Given the description of an element on the screen output the (x, y) to click on. 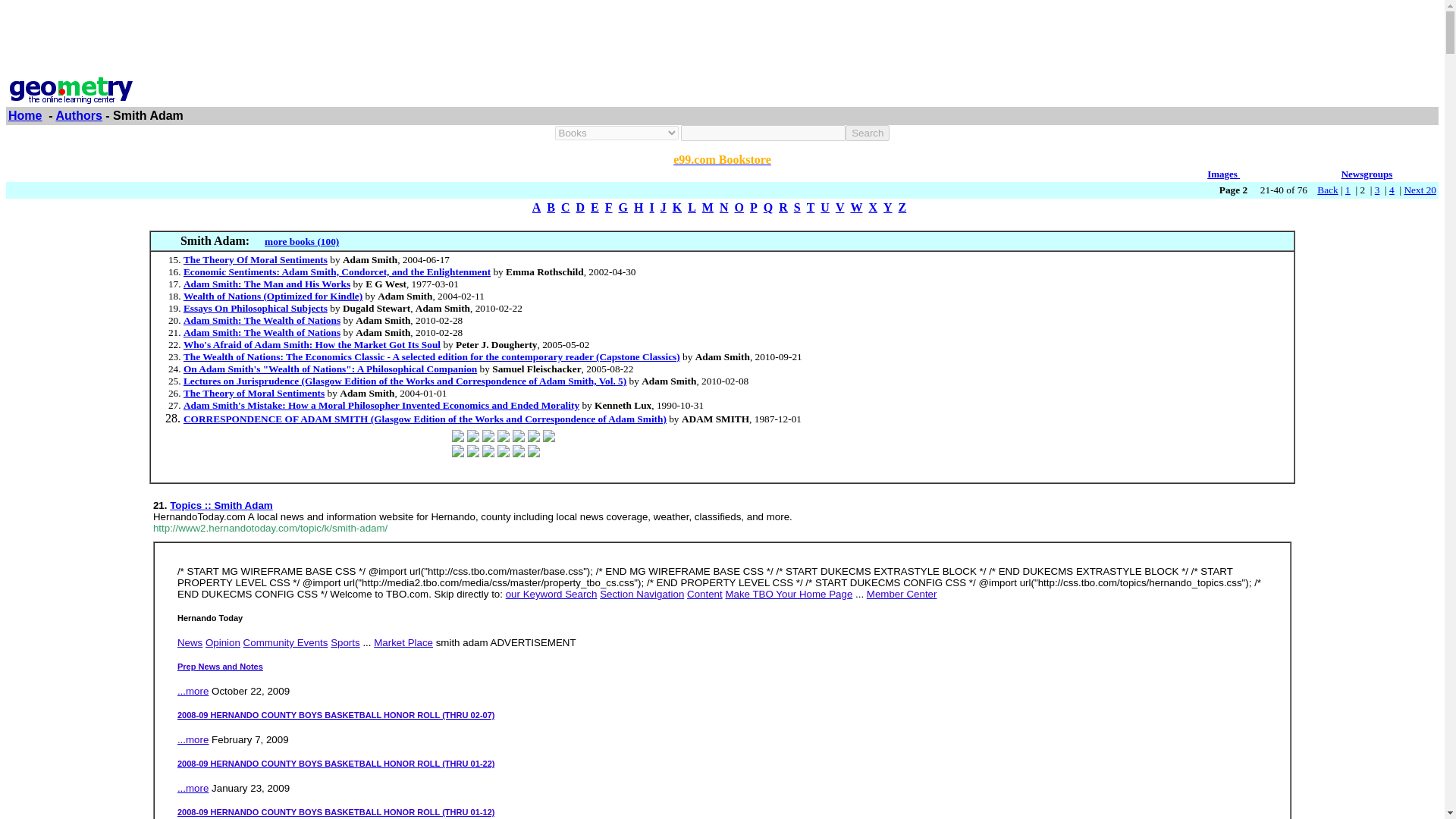
Search (867, 132)
Images  (1223, 173)
Authors (78, 115)
e99.com Bookstore (721, 159)
Next 20 (1419, 189)
Search (867, 132)
Advertisement (721, 39)
Back (1327, 189)
Newsgroups (1366, 173)
Home (25, 115)
